Given the description of an element on the screen output the (x, y) to click on. 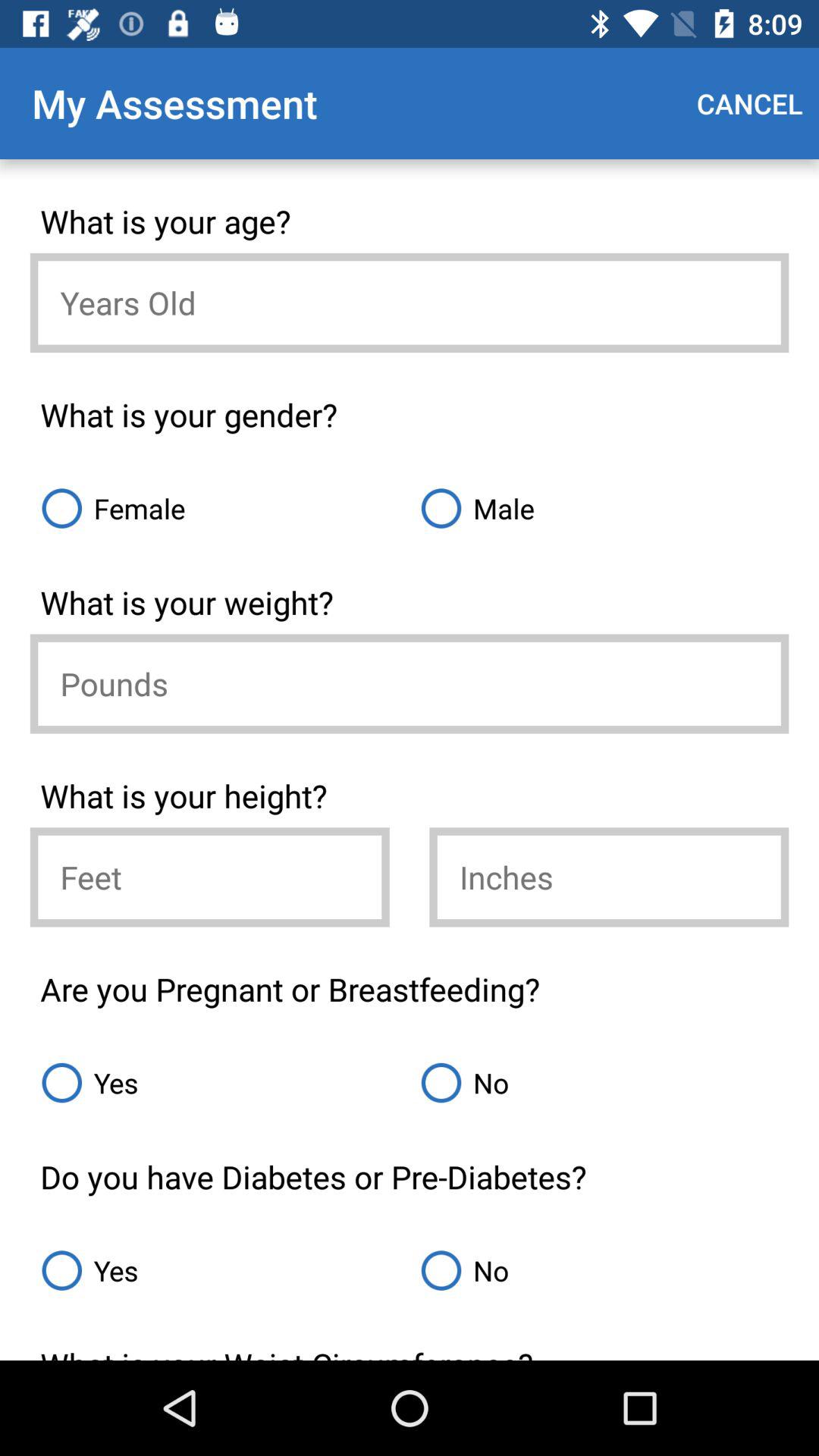
enter your age (409, 302)
